Given the description of an element on the screen output the (x, y) to click on. 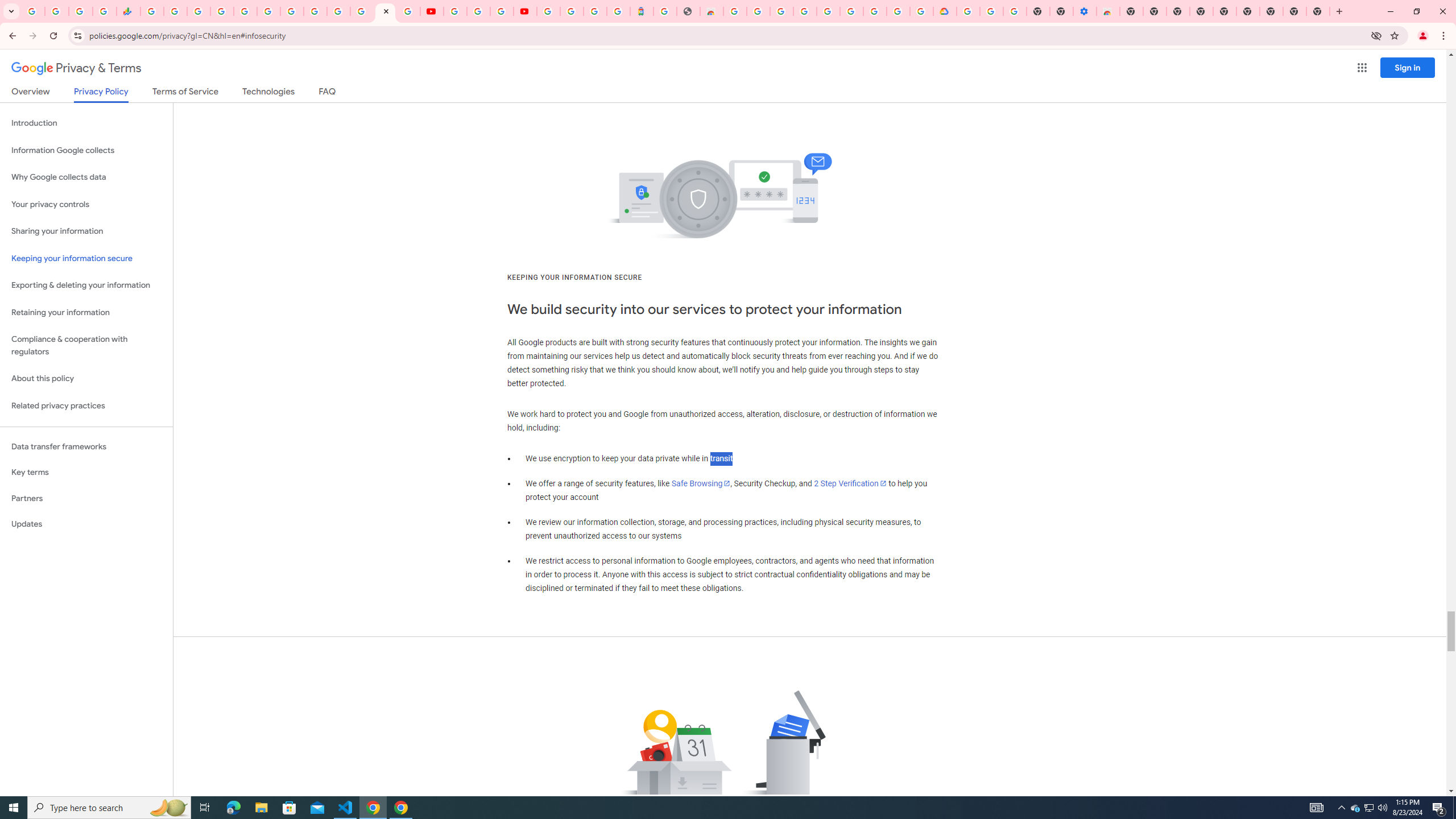
Updates (86, 524)
YouTube (431, 11)
Data transfer frameworks (86, 446)
New Tab (1318, 11)
Chrome Web Store - Accessibility extensions (1108, 11)
